Given the description of an element on the screen output the (x, y) to click on. 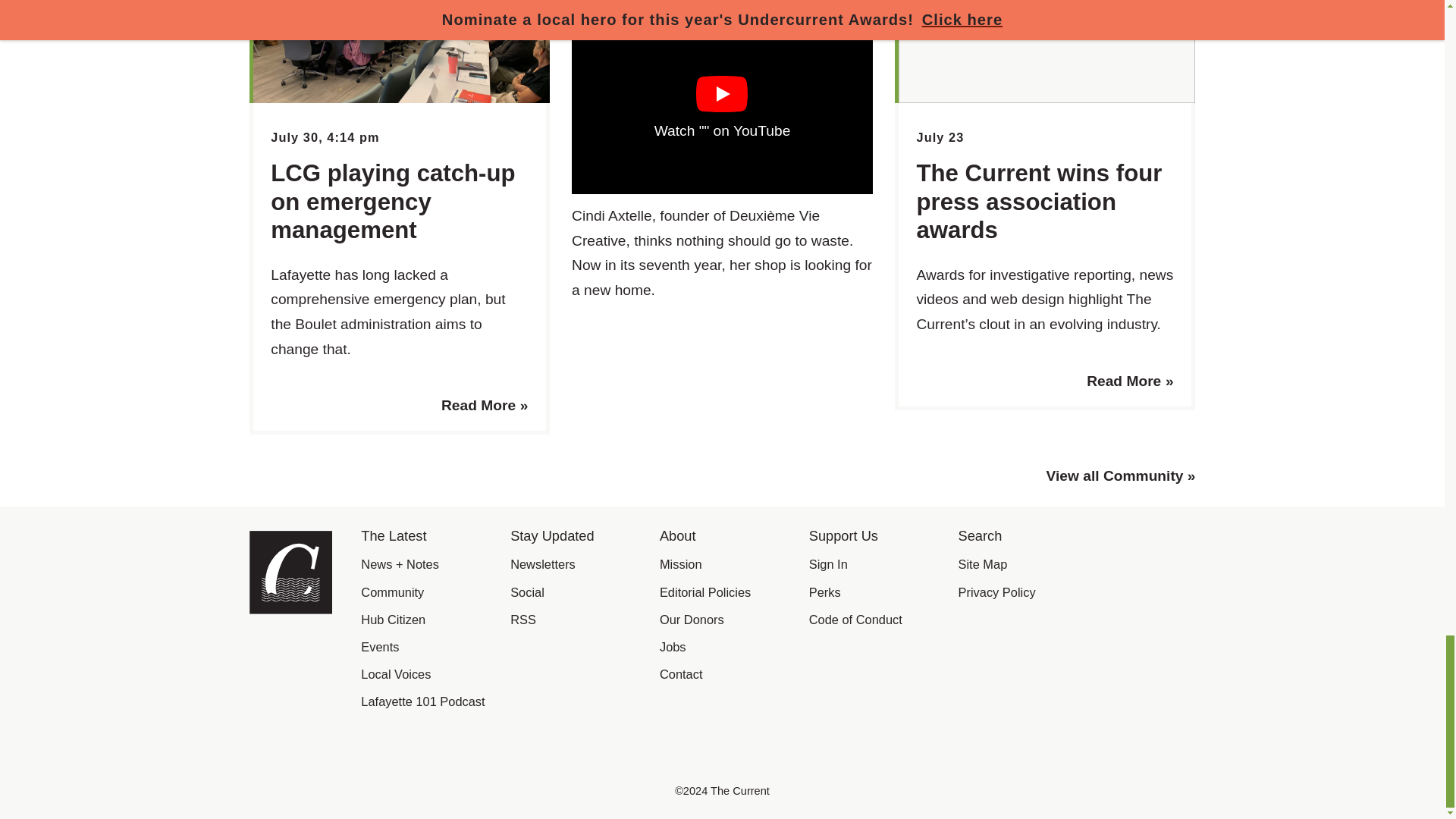
Watch "" on YouTube (722, 109)
The Latest (393, 535)
Published July 30, 2024 at 4:14 pm (324, 137)
Hub Citizen (393, 619)
LCG playing catch-up on emergency management (392, 201)
The Current wins four press association awards (1038, 201)
Published July 23, 2024 at 5:08 pm (939, 137)
Community (392, 591)
The Current (289, 609)
